Given the description of an element on the screen output the (x, y) to click on. 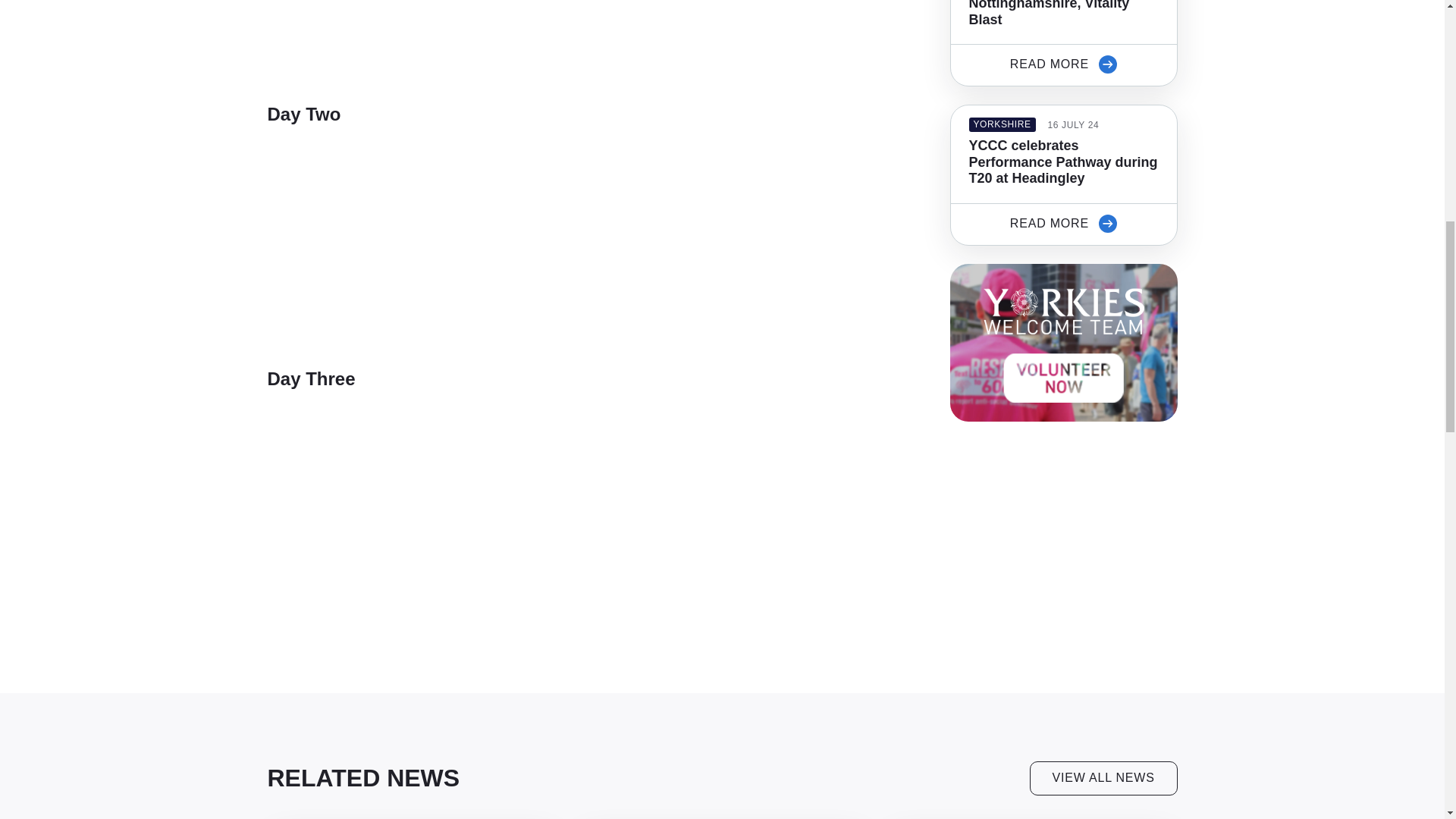
Highlights: Sussex vs Yorkshire - Day Three (456, 508)
Highlights: Sussex vs Yorkshire - Day Two (456, 244)
Highlights: Sussex vs Yorkshire  - Day One (456, 43)
